Given the description of an element on the screen output the (x, y) to click on. 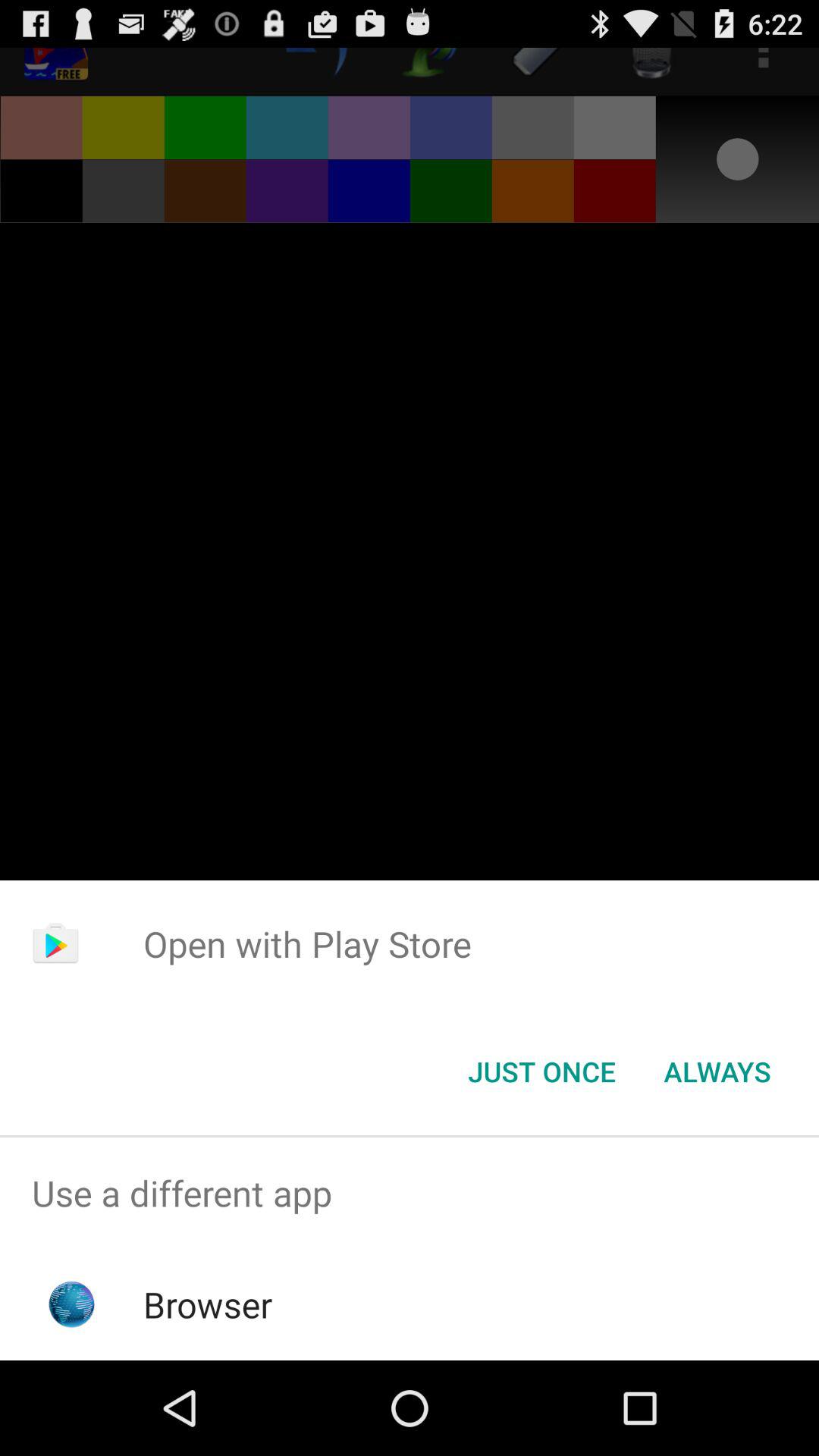
select always button (717, 1071)
